Given the description of an element on the screen output the (x, y) to click on. 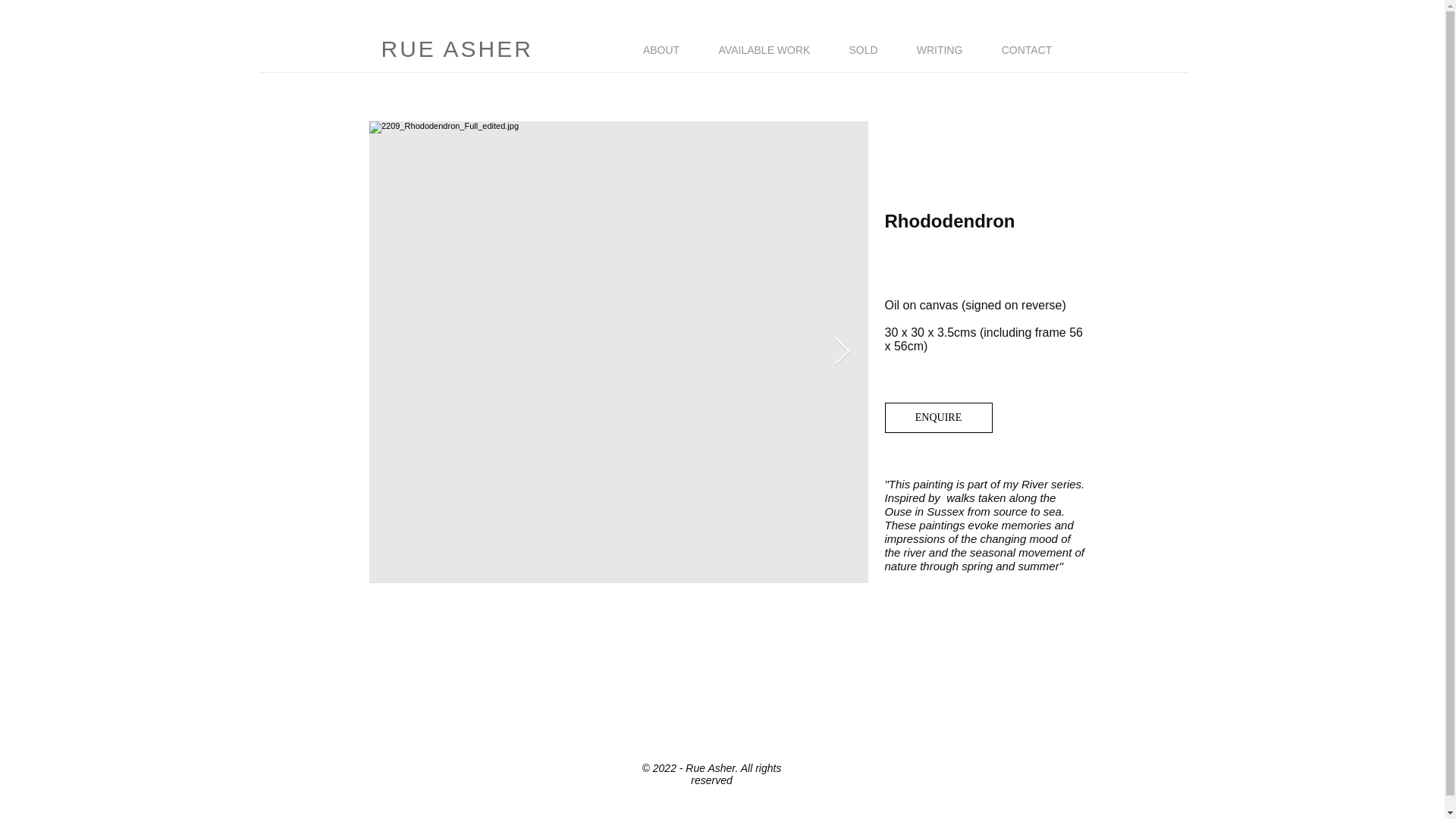
AVAILABLE WORK (763, 49)
ABOUT (660, 49)
RUE ASHER (456, 48)
ENQUIRE (937, 417)
CONTACT (1025, 49)
WRITING (938, 49)
SOLD (862, 49)
